Given the description of an element on the screen output the (x, y) to click on. 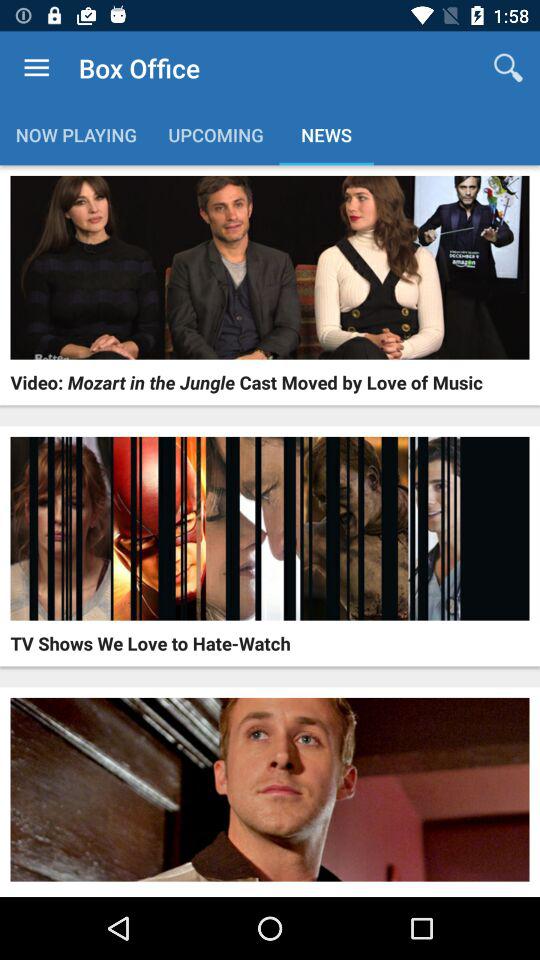
turn off icon next to the box office item (36, 68)
